Given the description of an element on the screen output the (x, y) to click on. 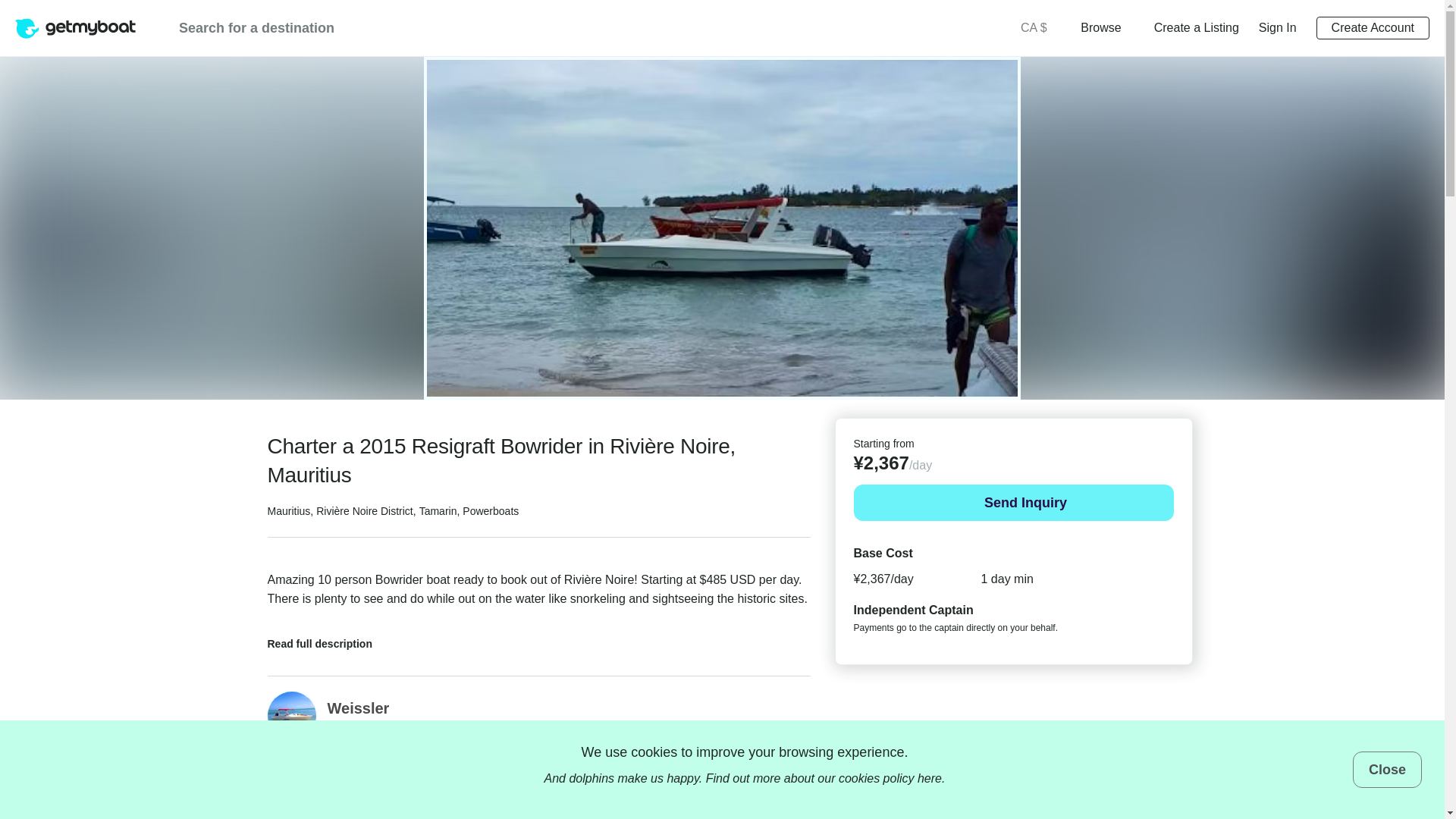
Create Account (1372, 27)
Send Inquiry (1013, 502)
Browse (1106, 26)
Tamarin (438, 510)
Read full description (329, 639)
Close (1387, 769)
Sign In (1278, 27)
cookies policy here (890, 778)
Mauritius (288, 510)
Create a Listing (1196, 27)
